Given the description of an element on the screen output the (x, y) to click on. 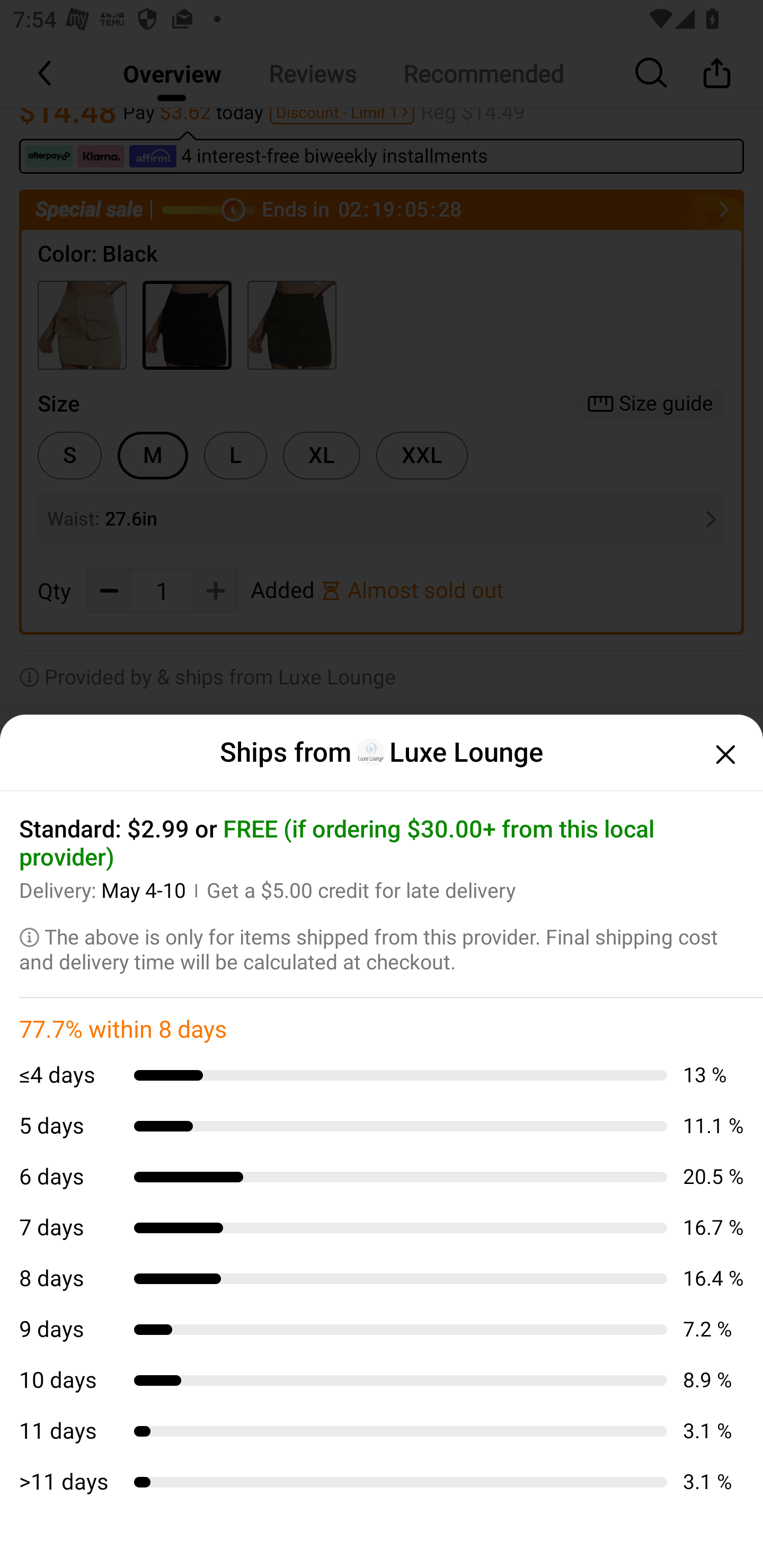
close (723, 753)
Temu's Commitments (381, 879)
Free returns￼Price adjustment (381, 1077)
Sustainability at Temu 8M+ trees (381, 1141)
4.7 ‪(50 provider ratings) (371, 1278)
